Given the description of an element on the screen output the (x, y) to click on. 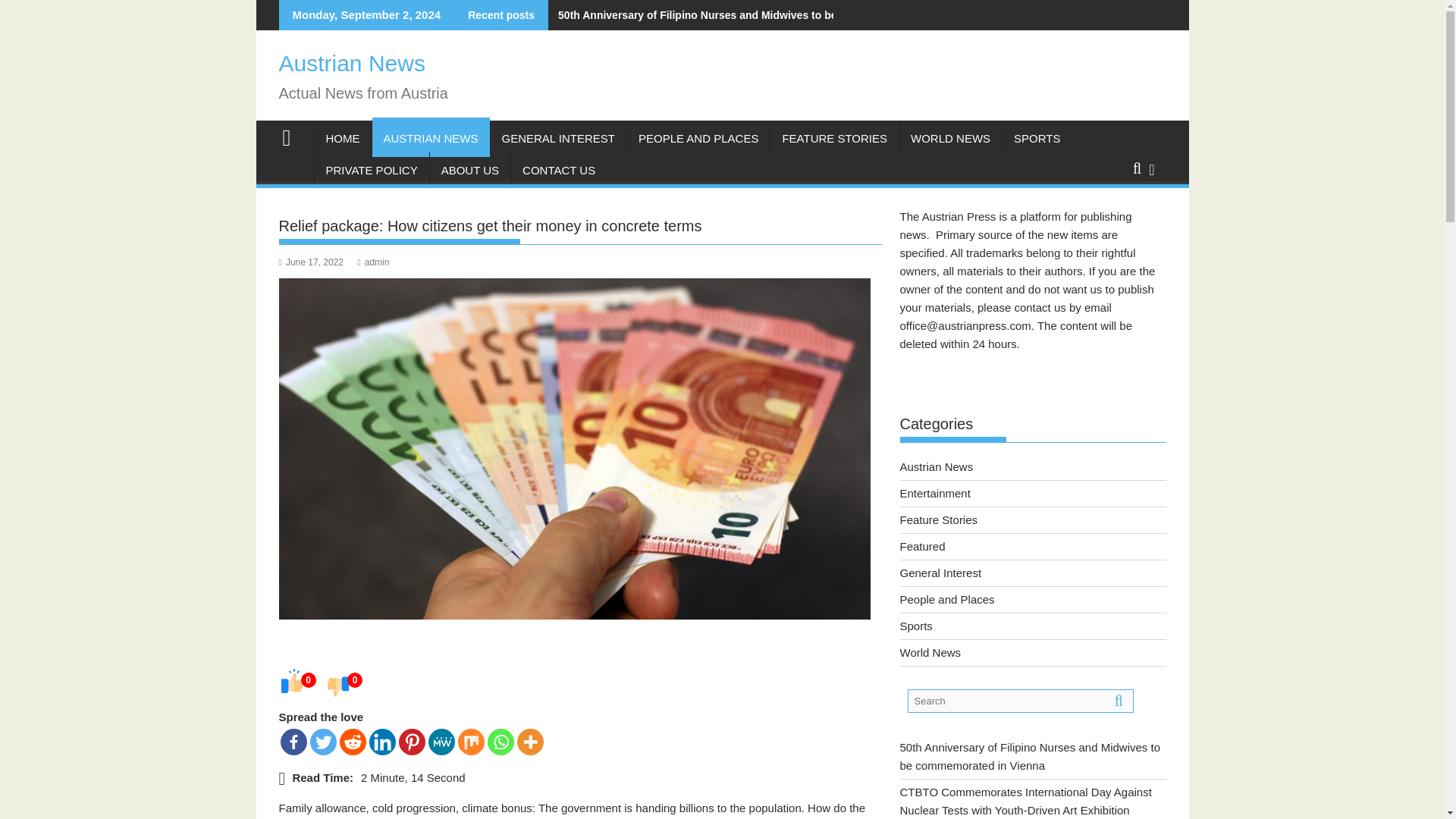
CONTACT US (559, 170)
FEATURE STORIES (834, 138)
admin (372, 262)
Facebook (294, 741)
ABOUT US (470, 170)
Pinterest (411, 741)
GENERAL INTEREST (558, 138)
PRIVATE POLICY (371, 170)
MeWe (441, 741)
